Given the description of an element on the screen output the (x, y) to click on. 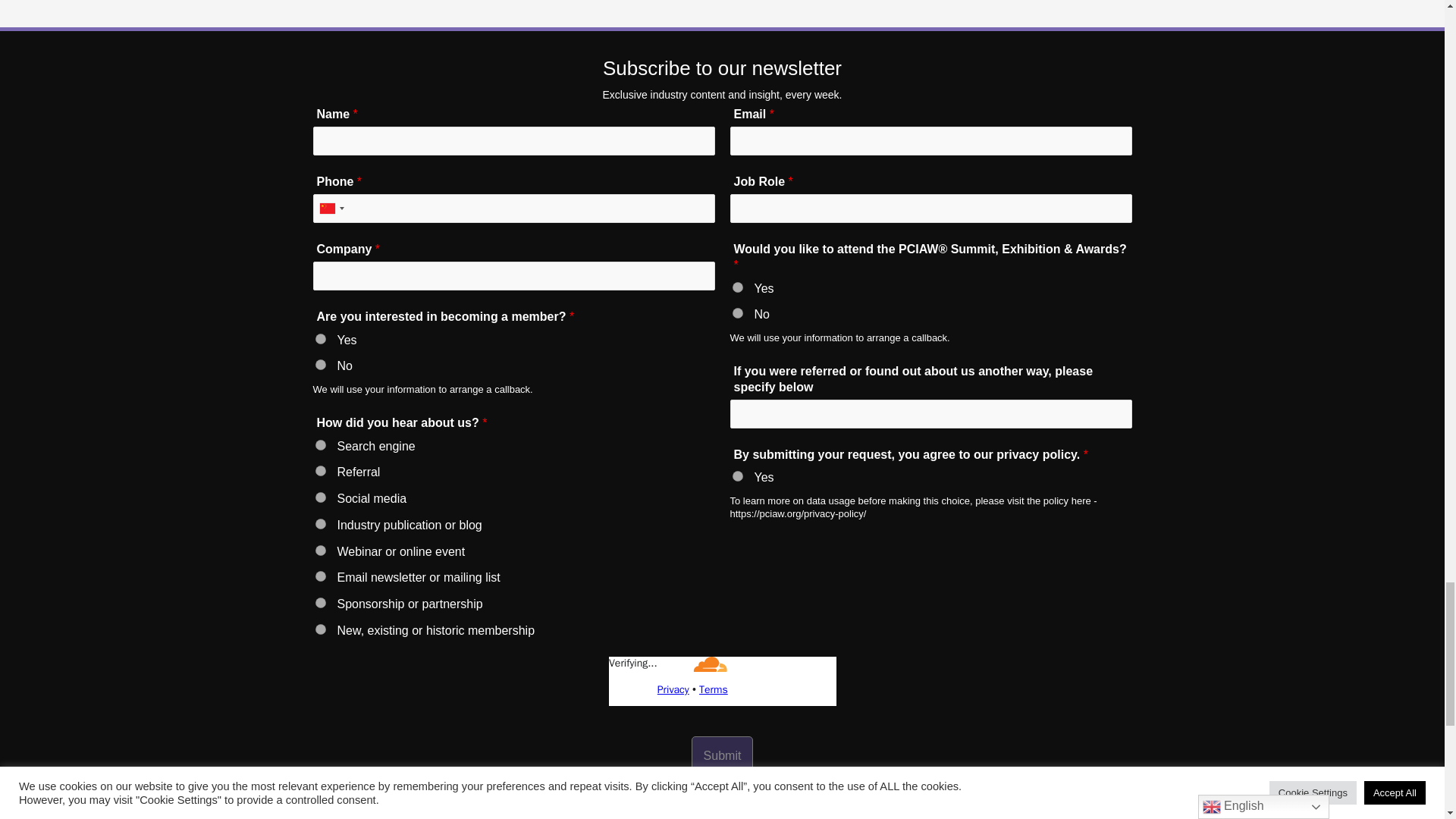
No (320, 364)
Sponsorship or partnership (320, 602)
Social media (320, 497)
Yes (737, 286)
Referral (320, 470)
No (737, 312)
Yes (737, 475)
Search engine (320, 444)
Industry publication or blog (320, 523)
Email newsletter or mailing list (320, 575)
New, existing or historic membership (320, 629)
Yes (320, 338)
Webinar or online event (320, 550)
